Given the description of an element on the screen output the (x, y) to click on. 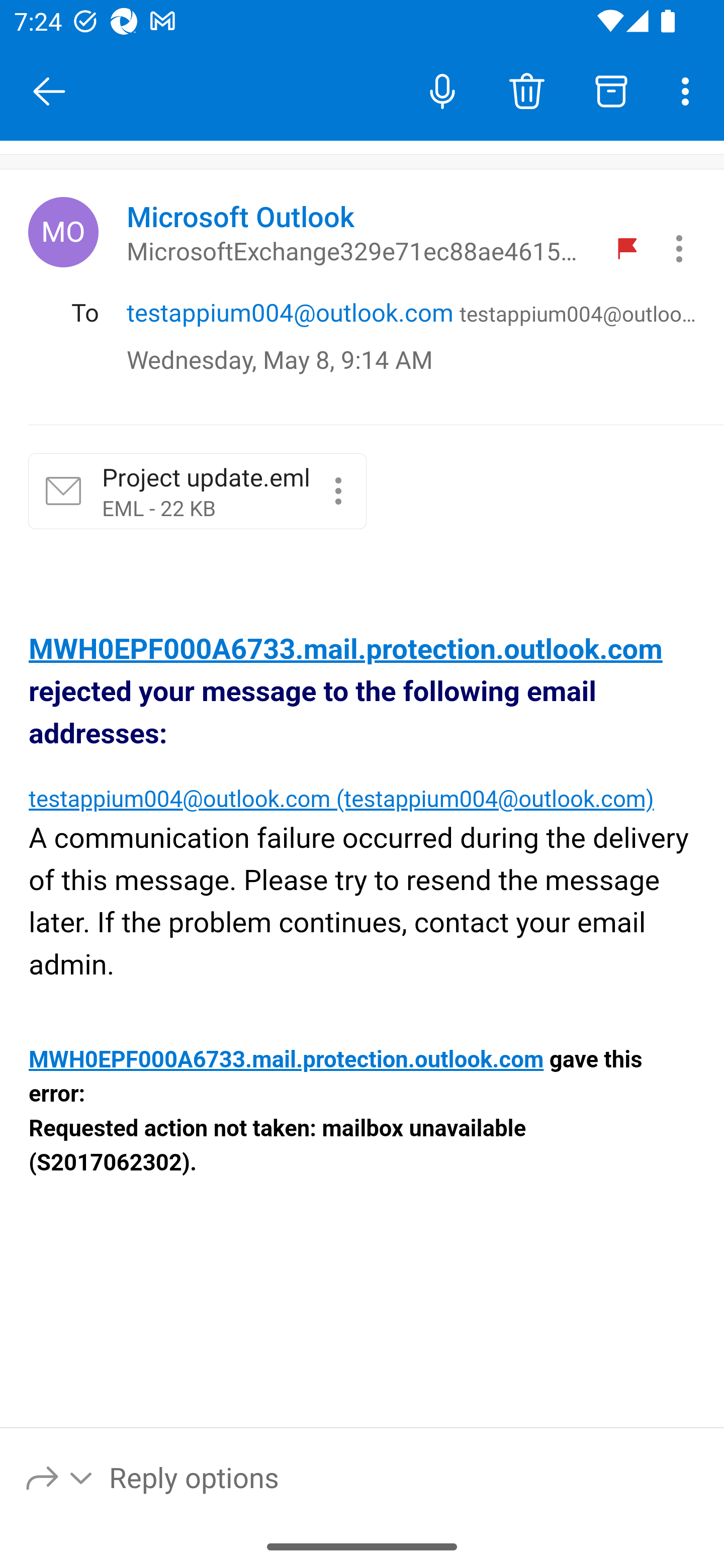
Close (49, 91)
Delete (526, 90)
Archive (611, 90)
More options (688, 90)
Message actions (679, 248)
Project update.eml (338, 491)
MWH0EPF000A6733.mail.protection.outlook.com (345, 648)
MWH0EPF000A6733.mail.protection.outlook.com (285, 1061)
Reply options (59, 1476)
